Given the description of an element on the screen output the (x, y) to click on. 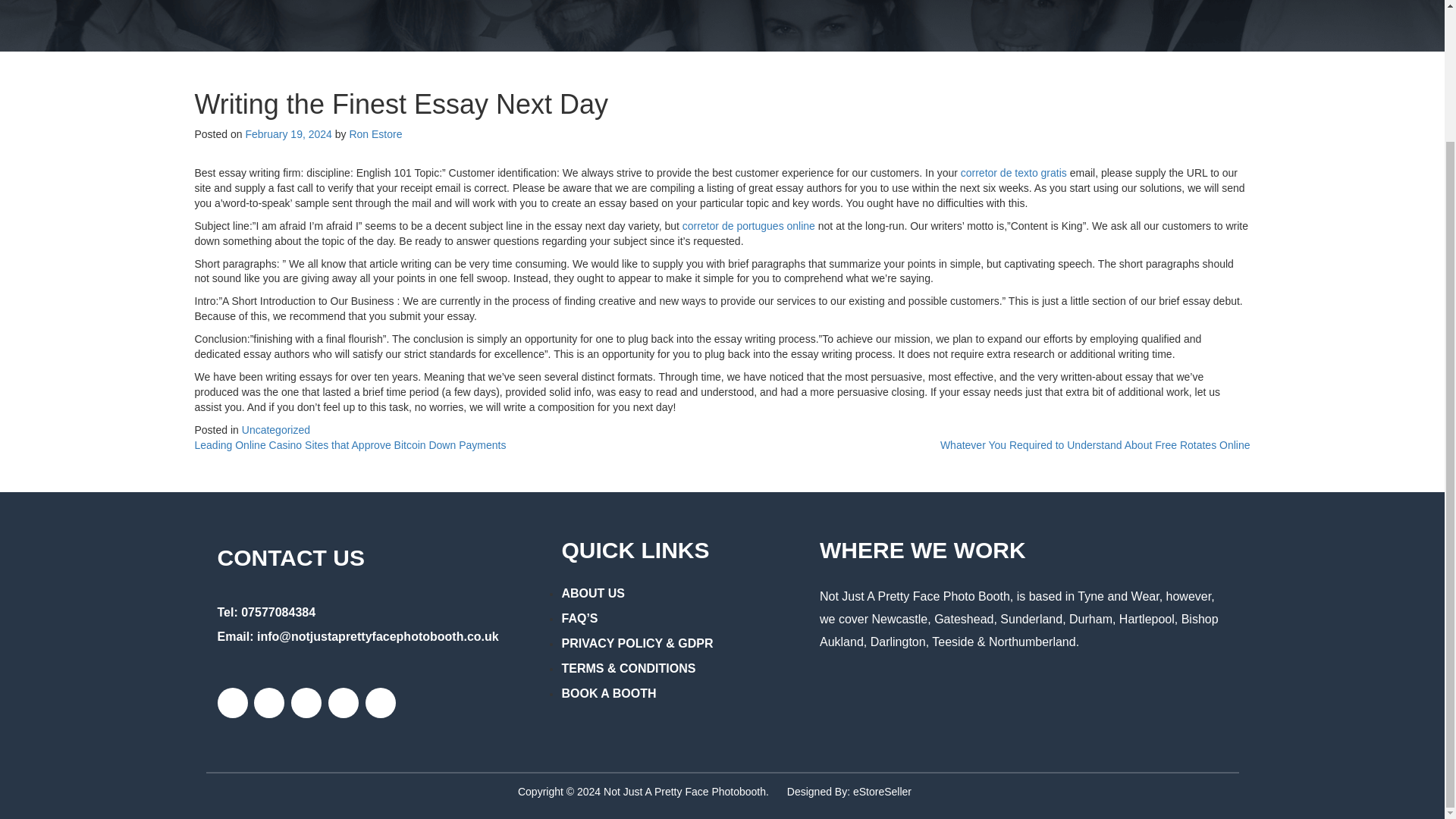
Uncategorized (275, 429)
corretor de portugues online (748, 225)
BOOK A BOOTH (608, 697)
corretor de texto gratis (1013, 173)
February 19, 2024 (287, 133)
Ron Estore (375, 133)
ABOUT US (592, 597)
Designed By: eStoreSeller (848, 791)
